Given the description of an element on the screen output the (x, y) to click on. 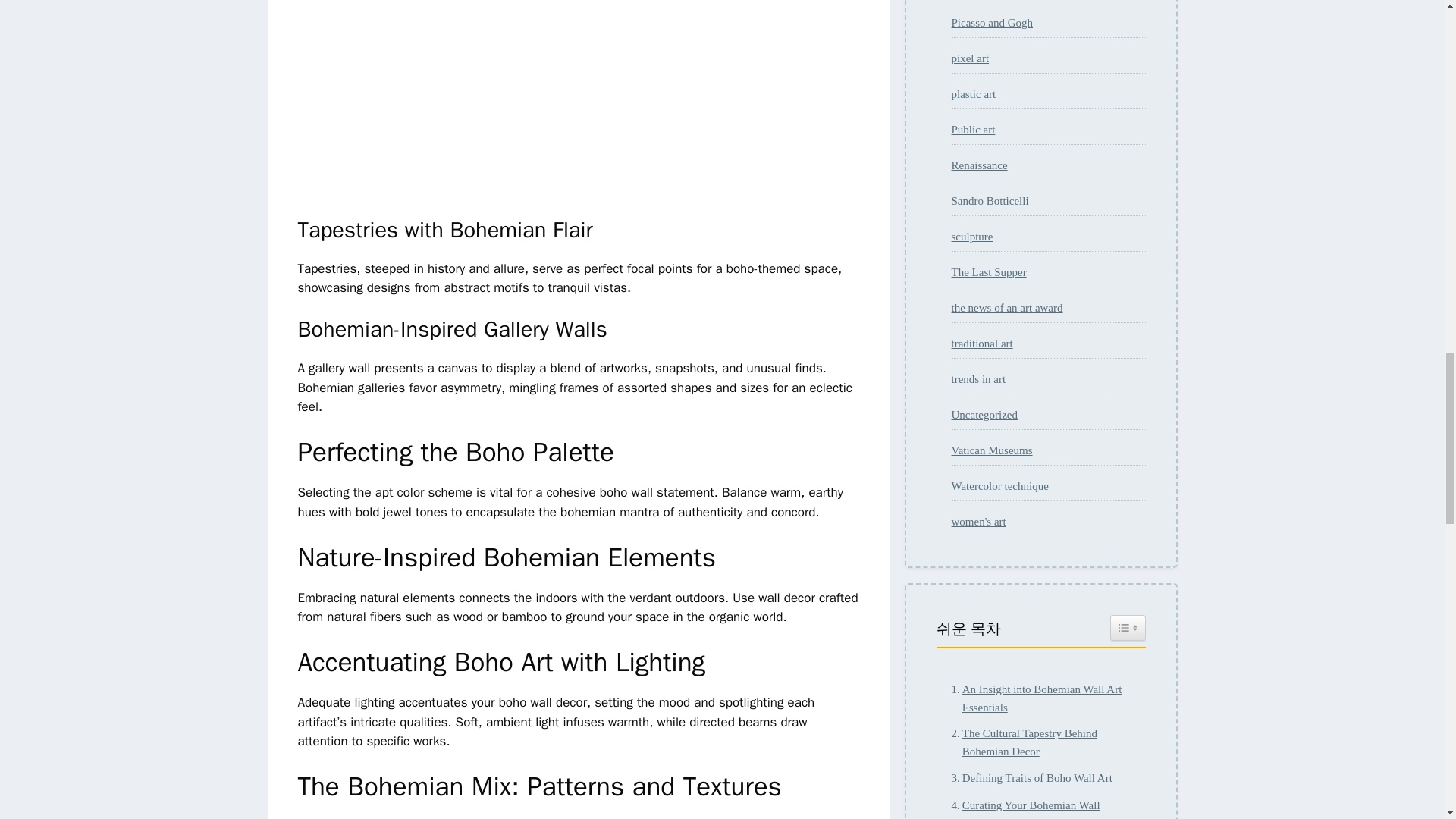
An Insight into Bohemian Wall Art Essentials (1040, 698)
